Given the description of an element on the screen output the (x, y) to click on. 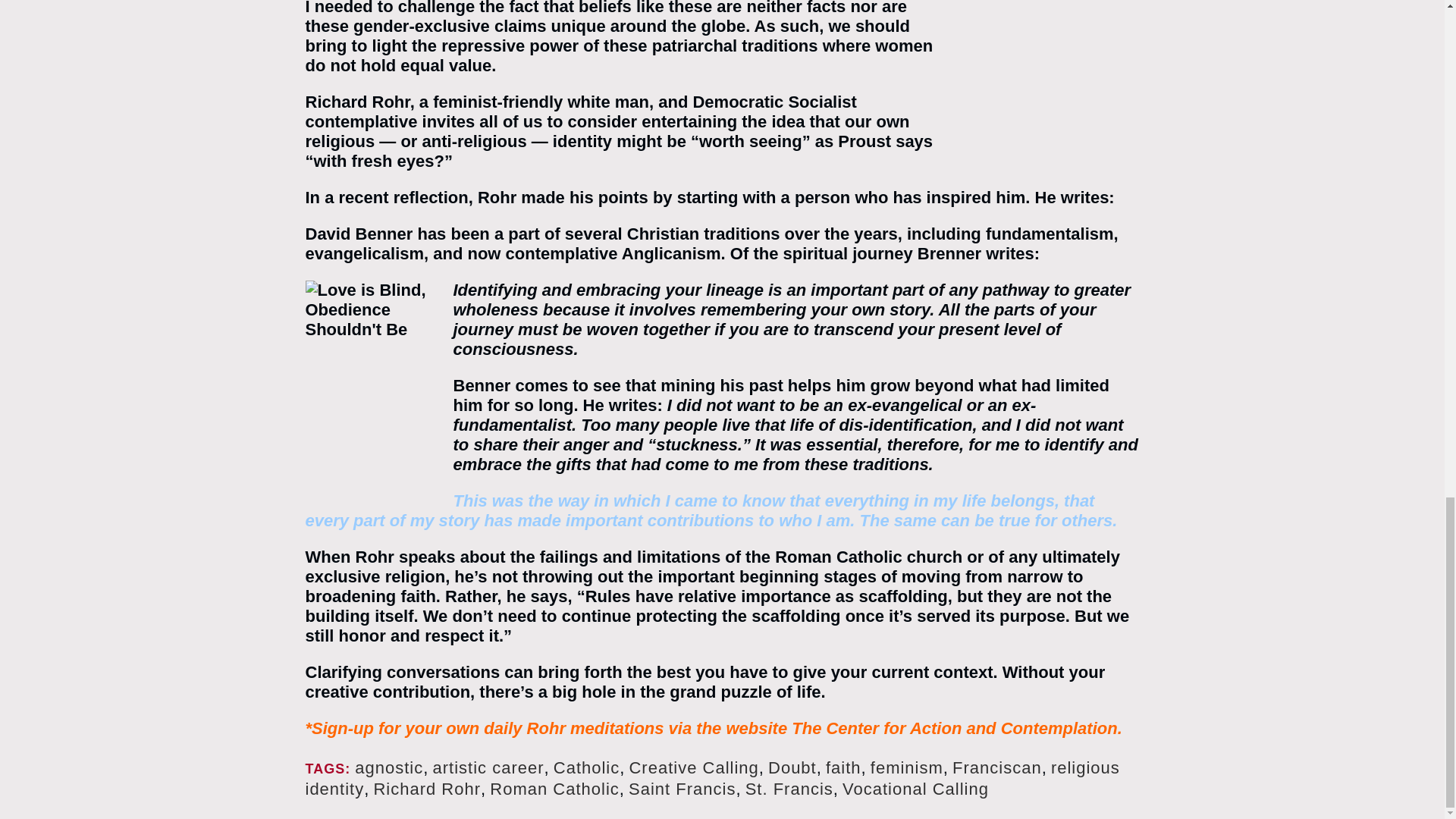
Creative Calling (693, 767)
The Center for Action and Contemplation (954, 728)
Roman Catholic (554, 788)
Franciscan (997, 767)
Catholic (586, 767)
Doubt (792, 767)
agnostic (389, 767)
feminism (906, 767)
Saint Francis (681, 788)
David Benner (358, 233)
